Given the description of an element on the screen output the (x, y) to click on. 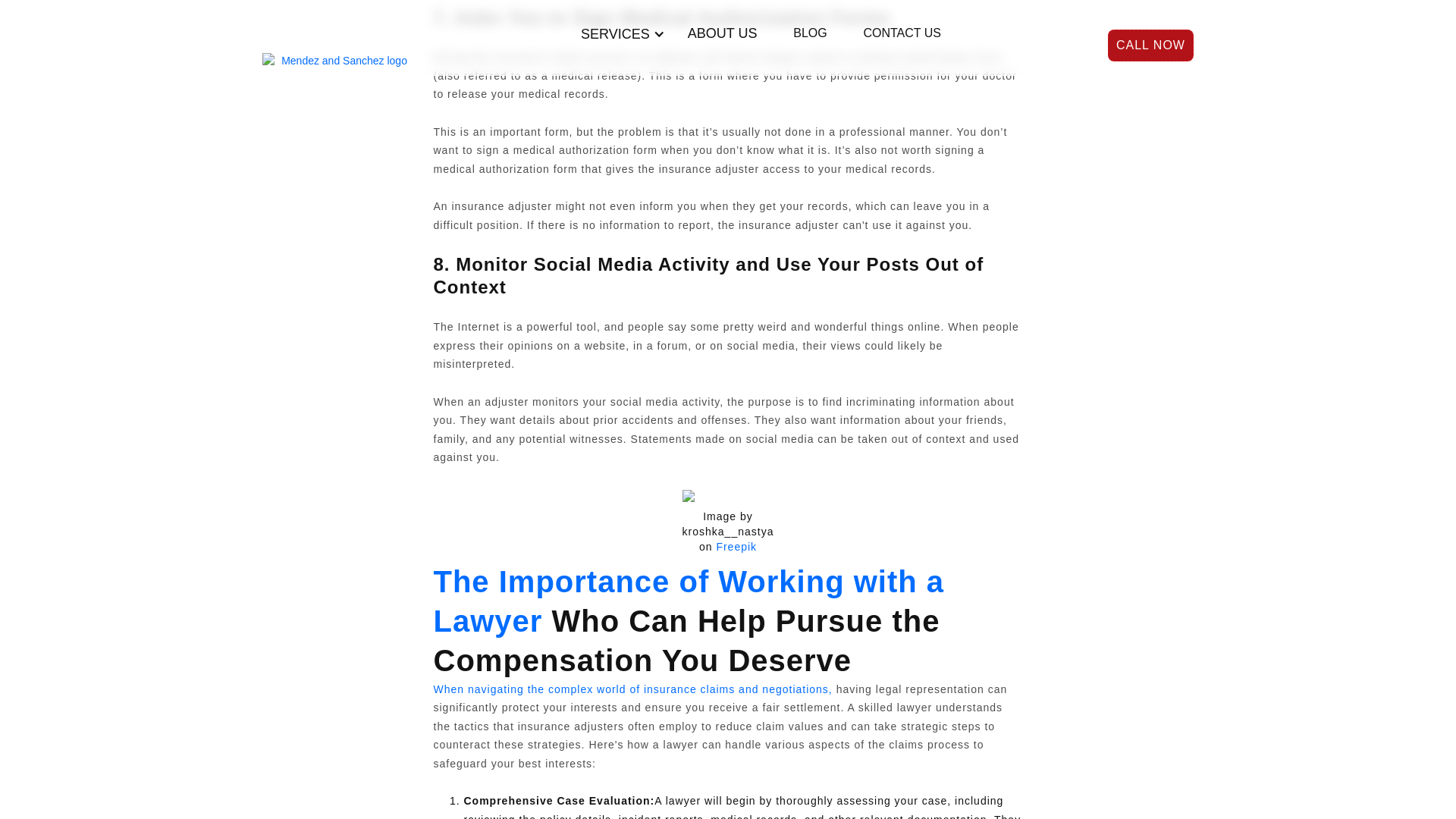
Freepik (736, 546)
The Importance of Working with a Lawyer (688, 601)
